Given the description of an element on the screen output the (x, y) to click on. 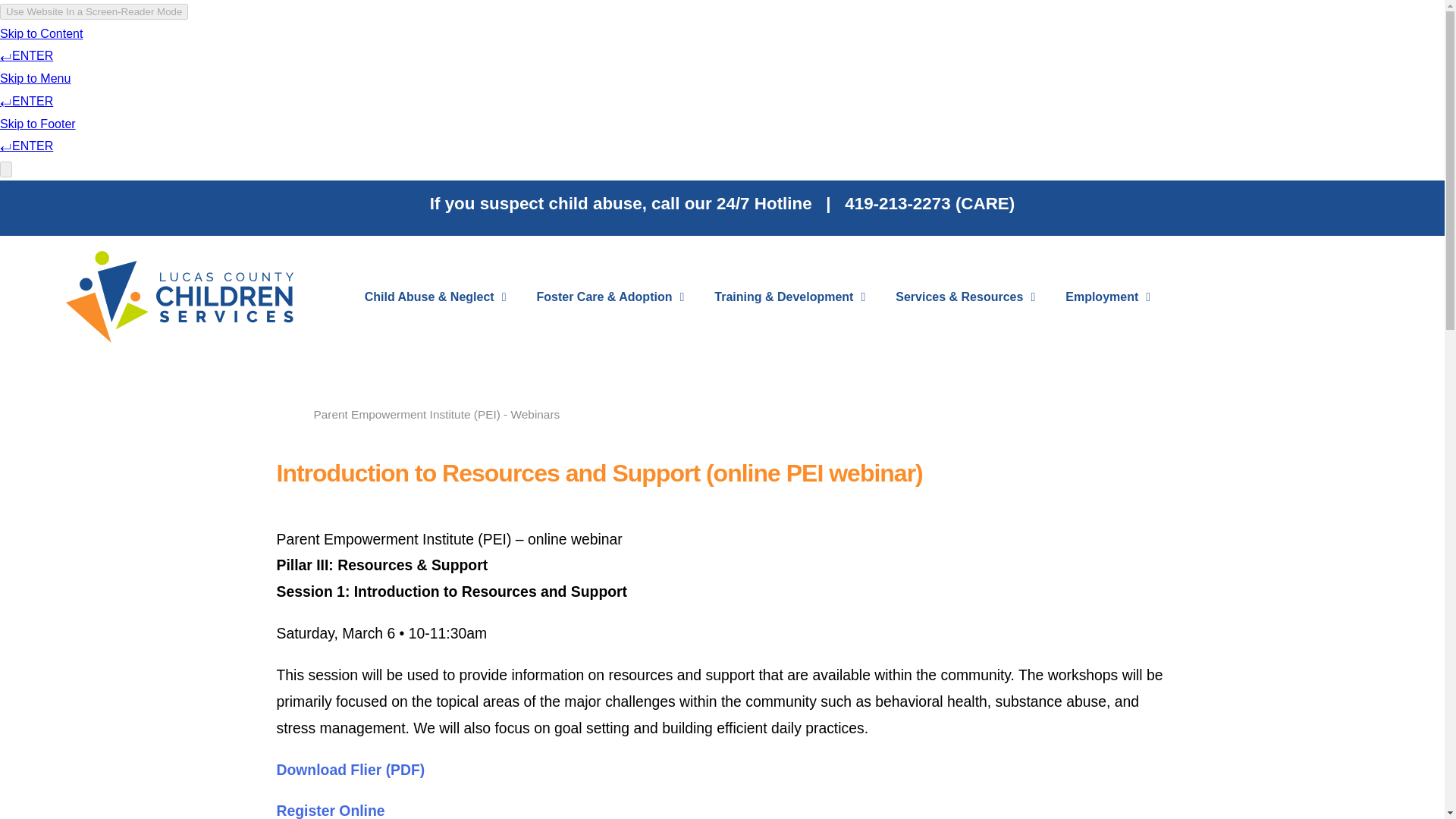
Employment (1107, 297)
